Given the description of an element on the screen output the (x, y) to click on. 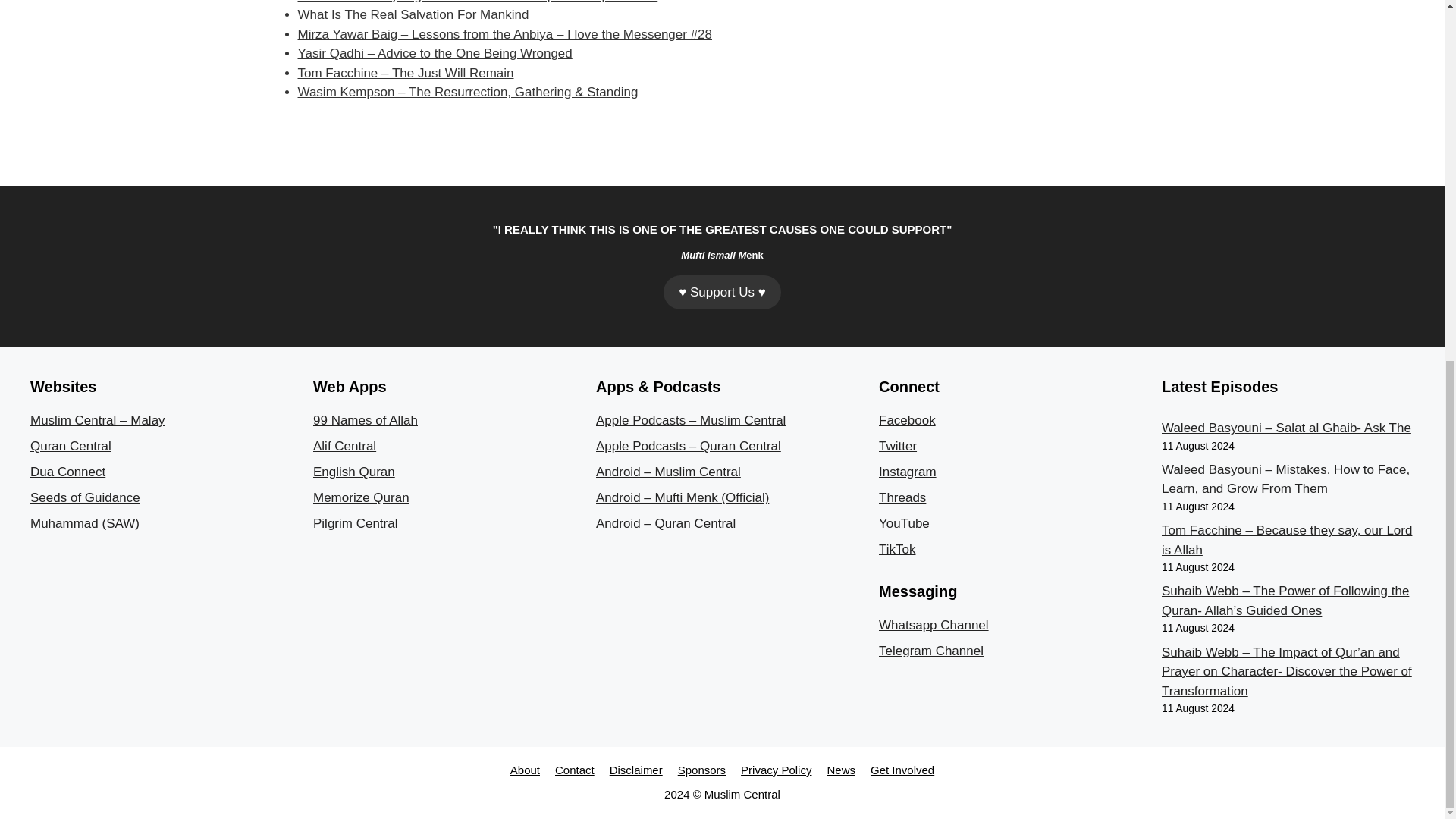
Dua Connect (67, 472)
99 Names of Allah (365, 420)
Alif Central (344, 445)
English Quran (353, 472)
Quran Central (71, 445)
Seeds of Guidance (84, 497)
What Is The Real Salvation For Mankind (412, 14)
Memorize Quran (361, 497)
Pilgrim Central (355, 523)
